Given the description of an element on the screen output the (x, y) to click on. 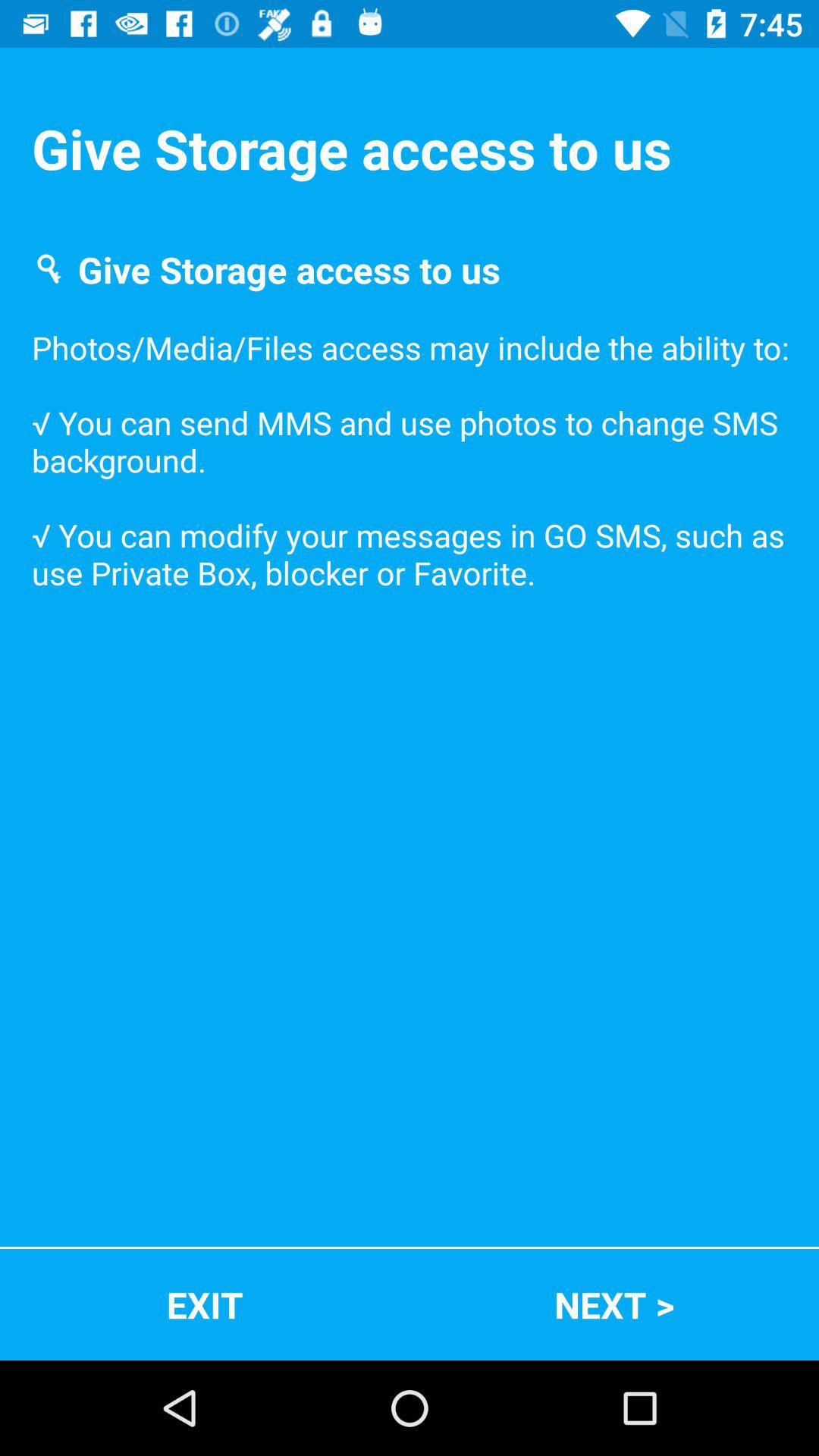
turn on item next to the exit (614, 1304)
